Given the description of an element on the screen output the (x, y) to click on. 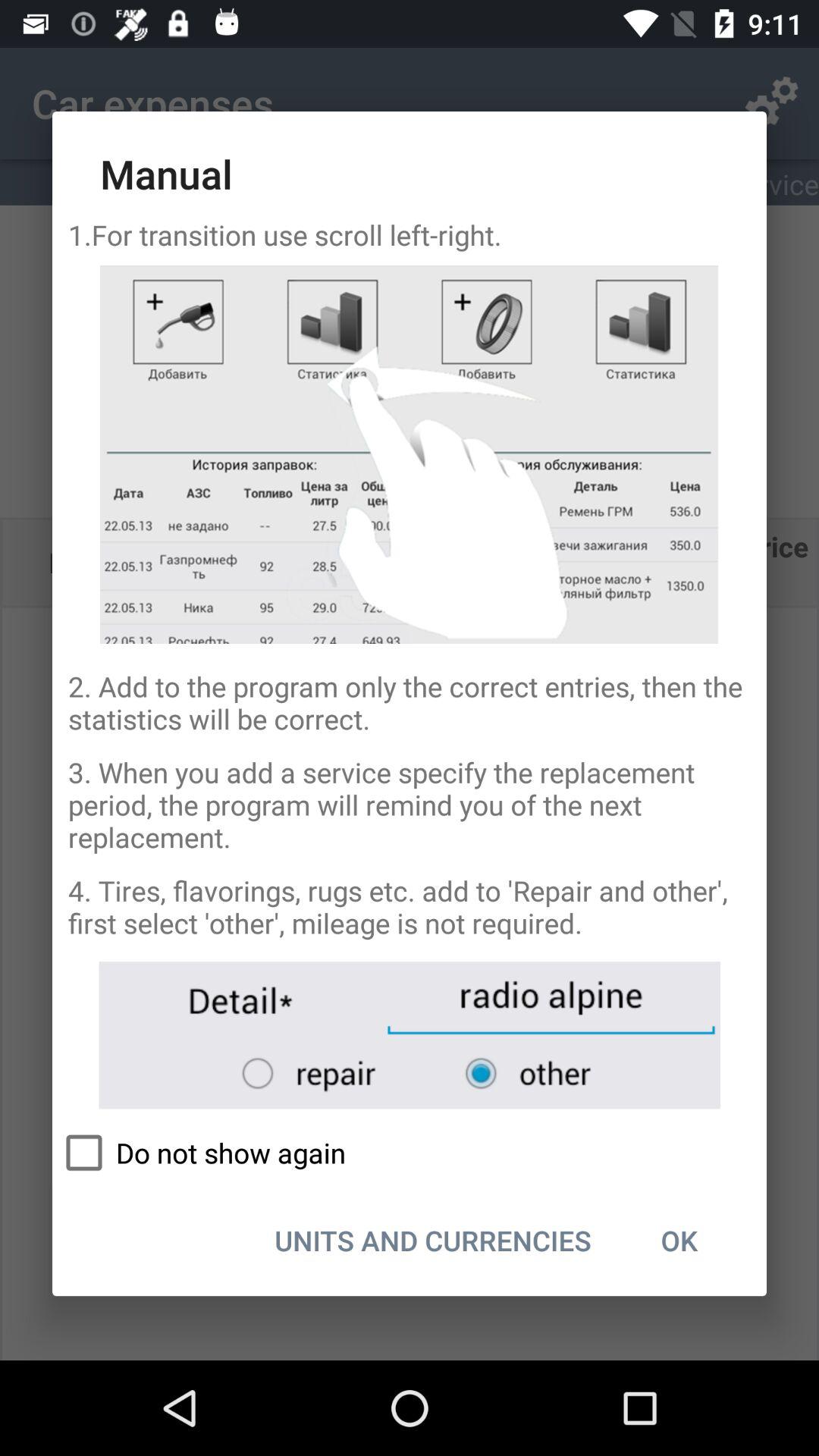
choose ok at the bottom right corner (678, 1240)
